Given the description of an element on the screen output the (x, y) to click on. 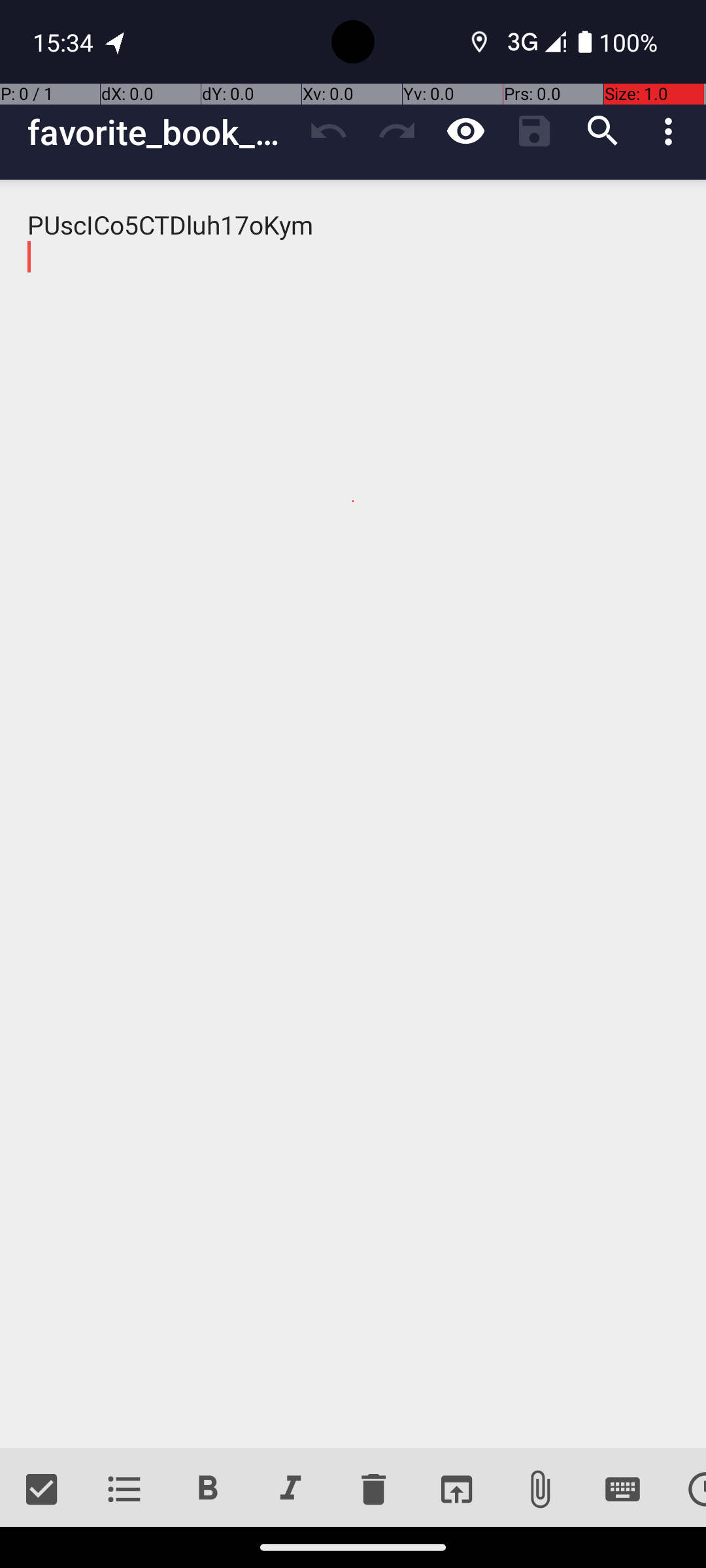
favorite_book_quotes_final Element type: android.widget.TextView (160, 131)
PUscICo5CTDluh17oKym
 Element type: android.widget.EditText (353, 813)
